Given the description of an element on the screen output the (x, y) to click on. 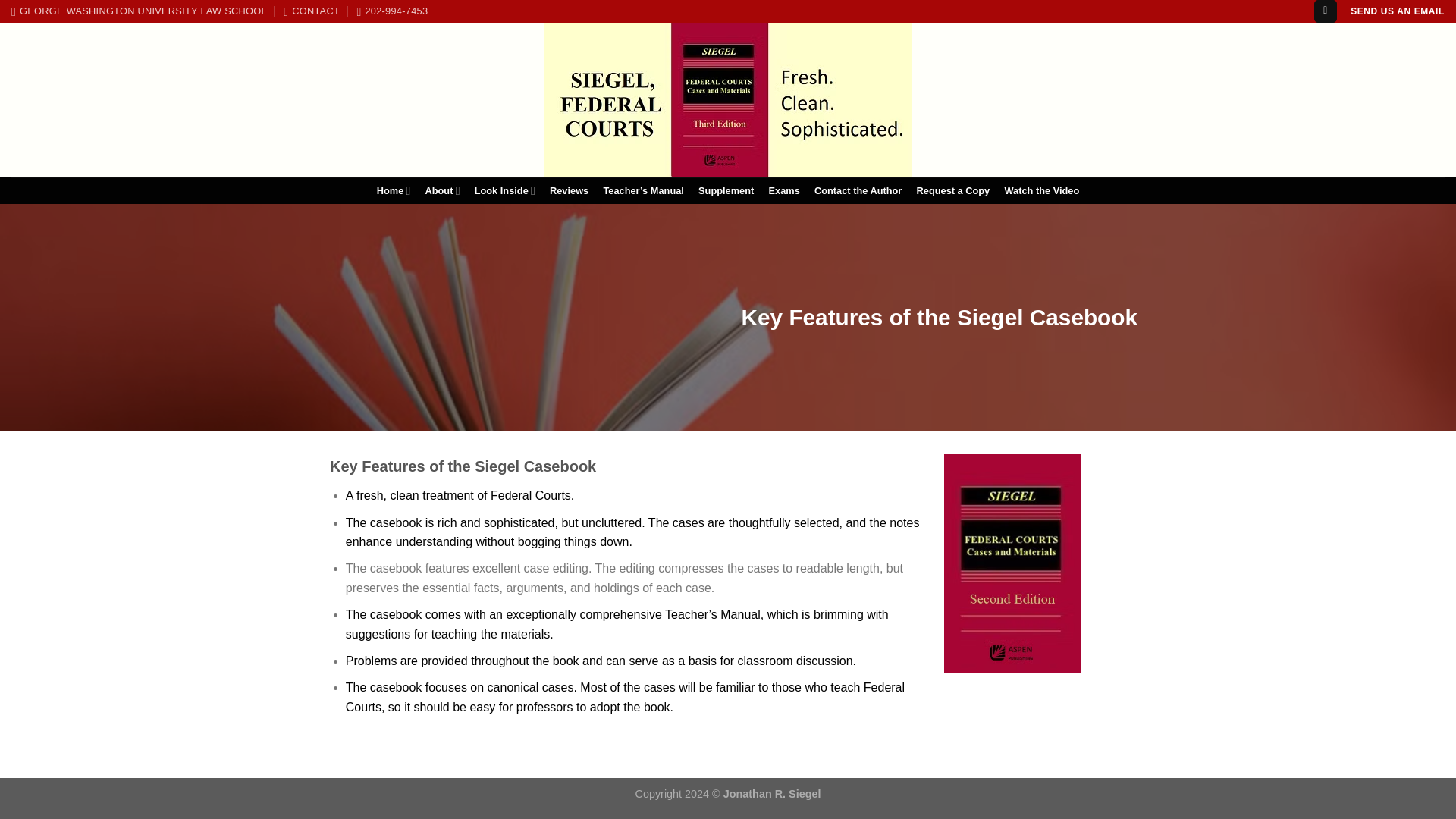
202-994-7453 (392, 11)
GEORGE WASHINGTON UNIVERSITY LAW SCHOOL (138, 11)
Reviews (568, 191)
Request a Copy (952, 191)
Supplement (725, 191)
CONTACT (311, 11)
SEND US AN EMAIL (1397, 10)
Look Inside (504, 191)
About (442, 191)
Home (393, 191)
Watch the Video (1041, 191)
Exams (783, 191)
Contact the Author (857, 191)
